Given the description of an element on the screen output the (x, y) to click on. 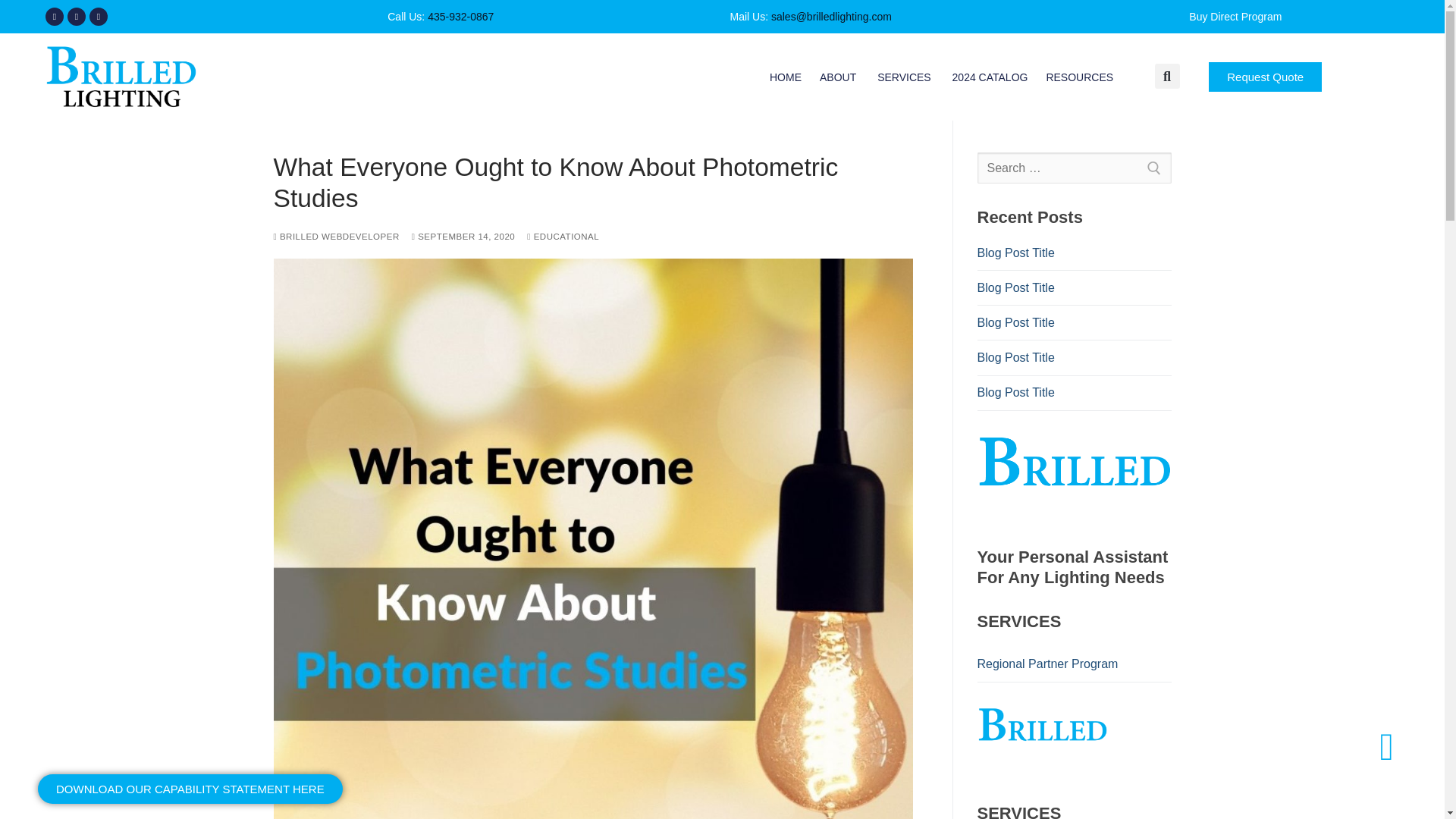
Buy Direct Program (1235, 16)
Call Us: 435-932-0867 (1080, 76)
2024 CATALOG (838, 76)
Search for: (550, 16)
HOME (904, 76)
